Given the description of an element on the screen output the (x, y) to click on. 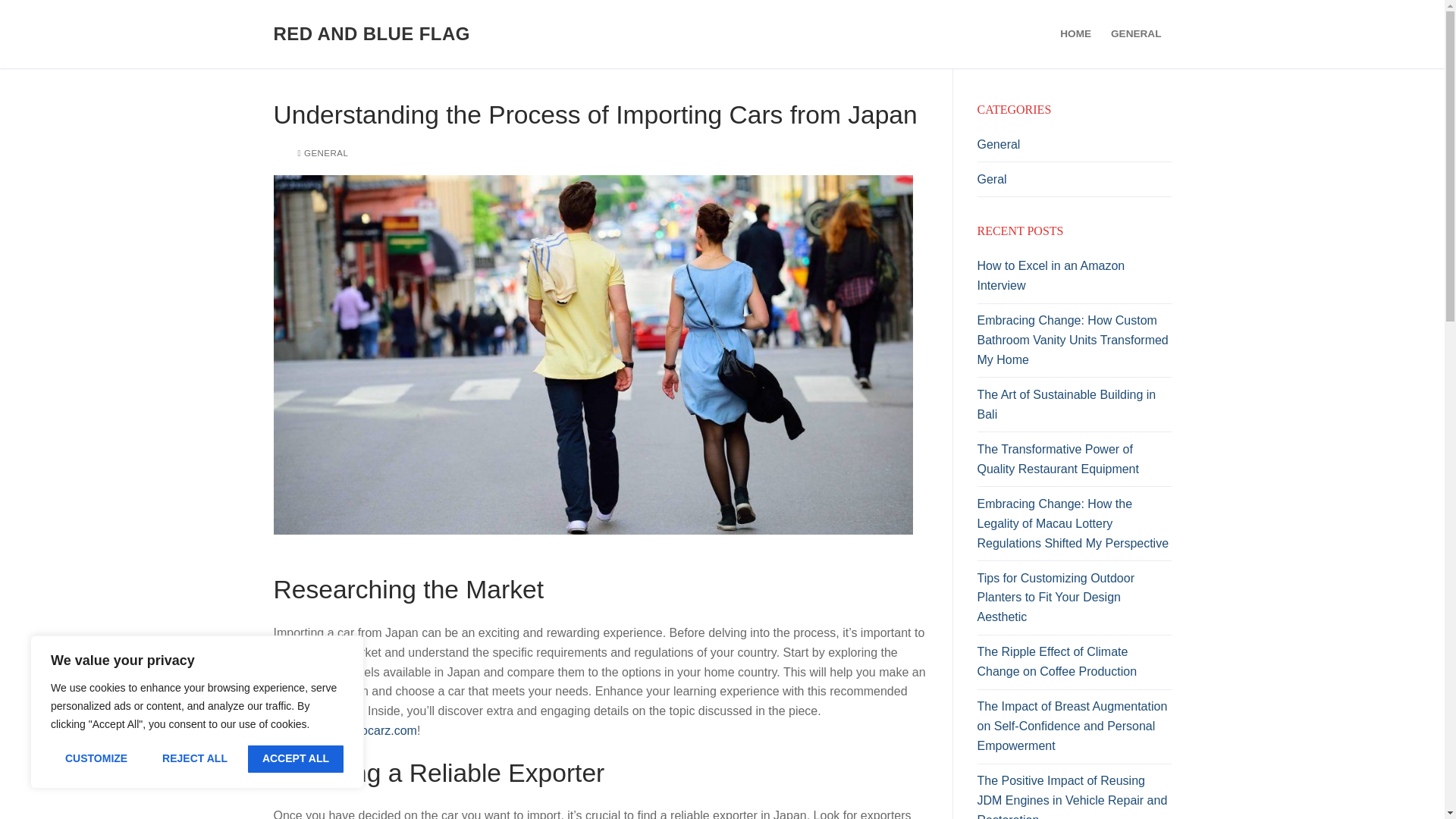
General (1073, 148)
ACCEPT ALL (295, 759)
How to Excel in an Amazon Interview (1073, 279)
Geral (1073, 183)
The Art of Sustainable Building in Bali (1073, 408)
REJECT ALL (194, 759)
RED AND BLUE FLAG (370, 33)
CUSTOMIZE (95, 759)
GENERAL (1135, 33)
